Given the description of an element on the screen output the (x, y) to click on. 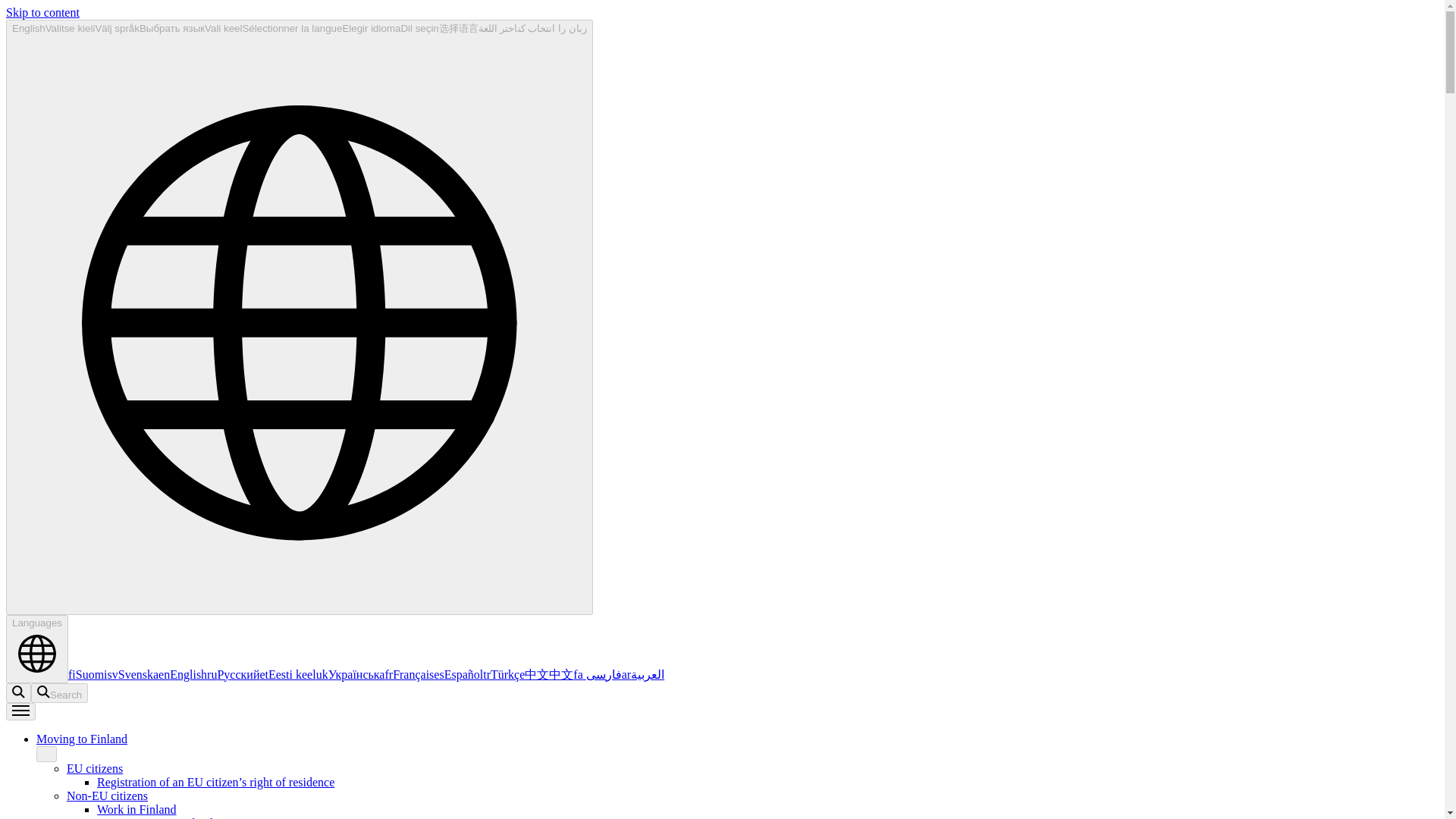
etEesti keel (287, 674)
Search (58, 692)
EU citizens (94, 768)
Entrepreneur in Finland (154, 817)
enEnglish (182, 674)
mainMenu.open (46, 754)
Skip to content (42, 11)
Work in Finland (136, 809)
Suomi (87, 674)
Search (58, 692)
fiSuomi (87, 674)
svSvenska (132, 674)
Moving to Finland (82, 738)
Languages (36, 649)
Eesti keel (287, 674)
